Given the description of an element on the screen output the (x, y) to click on. 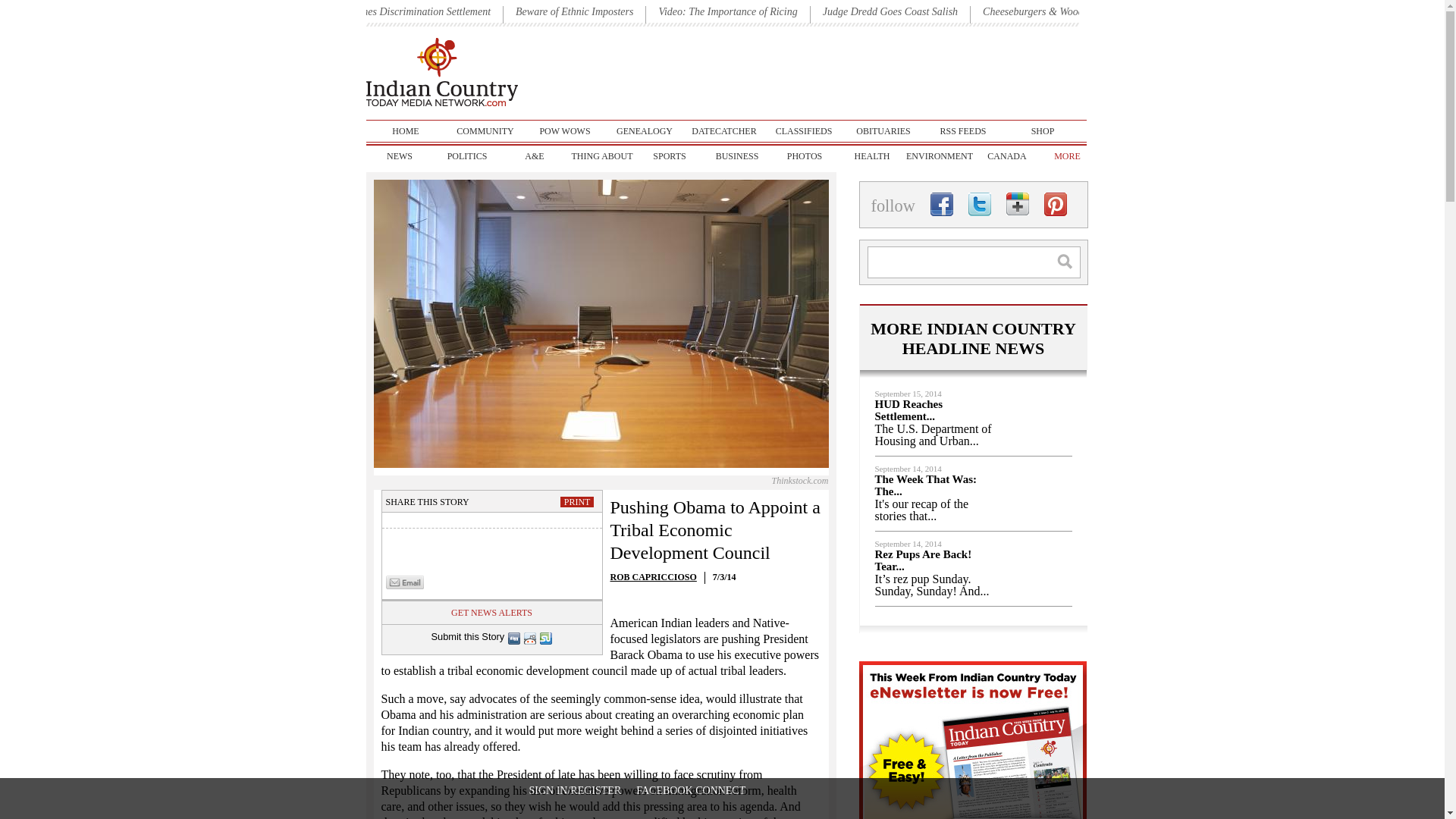
POW WOWS (564, 130)
THING ABOUT SKINS (602, 156)
Print this story. (577, 501)
BUSINESS (737, 156)
Beware of Ethnic Imposters (574, 11)
HEALTH (871, 156)
Video: The Importance of Ricing (727, 11)
PHOTOS (804, 156)
SPORTS (668, 156)
Judge Dredd Goes Coast Salish (890, 11)
Login Using Facebok (690, 790)
CANADA (1007, 156)
HOME (405, 130)
Enter the terms you wish to search for. (973, 262)
